Given the description of an element on the screen output the (x, y) to click on. 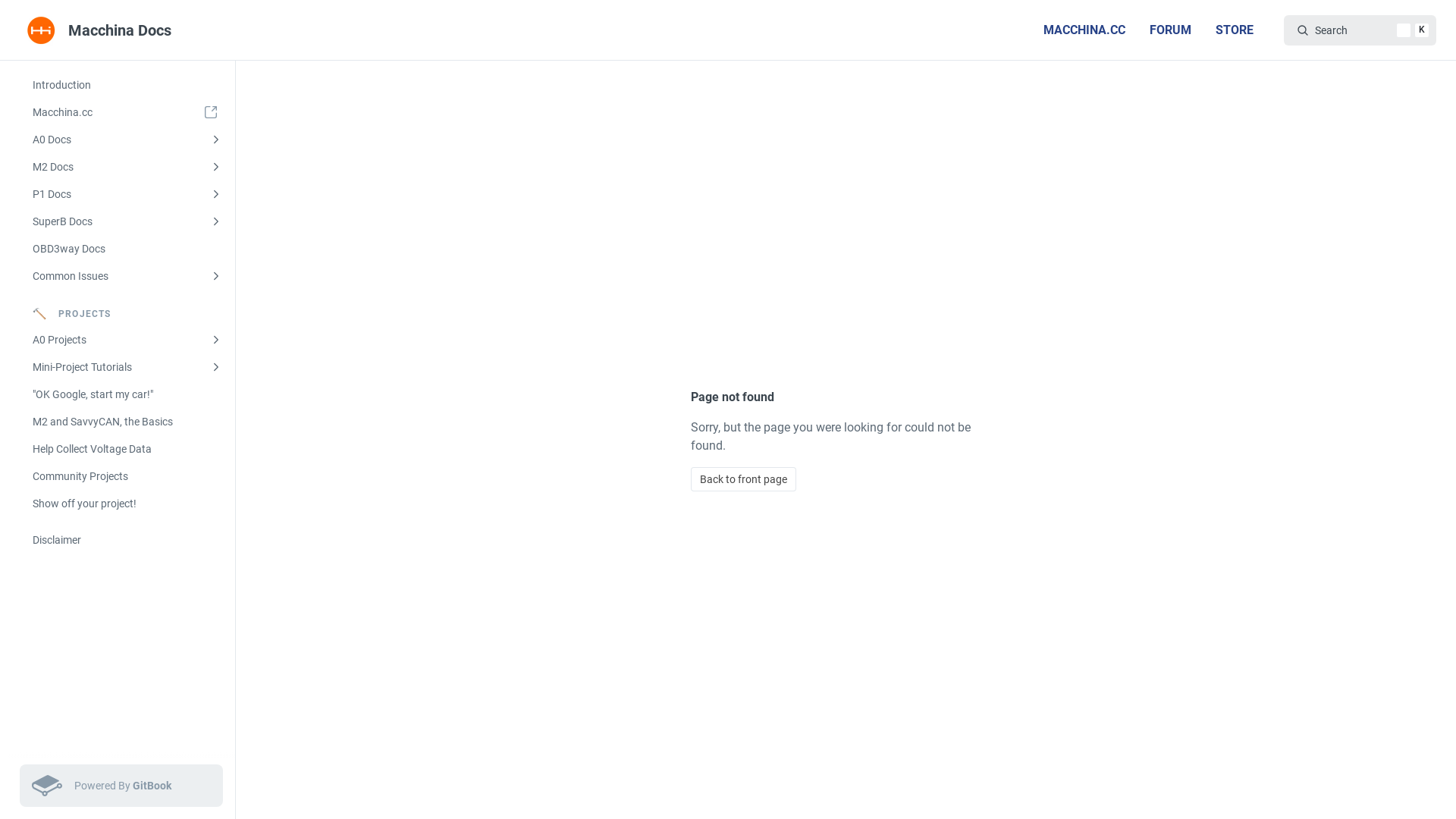
Common Issues Element type: text (127, 275)
Back to front page Element type: text (742, 479)
Macchina Docs Element type: text (101, 30)
Disclaimer Element type: text (127, 539)
MACCHINA.CC Element type: text (1084, 30)
A0 Projects Element type: text (127, 339)
Mini-Project Tutorials Element type: text (127, 366)
M2 and SavvyCAN, the Basics Element type: text (127, 421)
Help Collect Voltage Data Element type: text (127, 448)
FORUM Element type: text (1170, 30)
Community Projects Element type: text (127, 476)
Introduction Element type: text (127, 84)
Show off your project! Element type: text (127, 503)
Powered By GitBook Element type: text (120, 785)
Macchina.cc Element type: text (127, 112)
"OK Google, start my car!" Element type: text (127, 394)
STORE Element type: text (1234, 30)
